Given the description of an element on the screen output the (x, y) to click on. 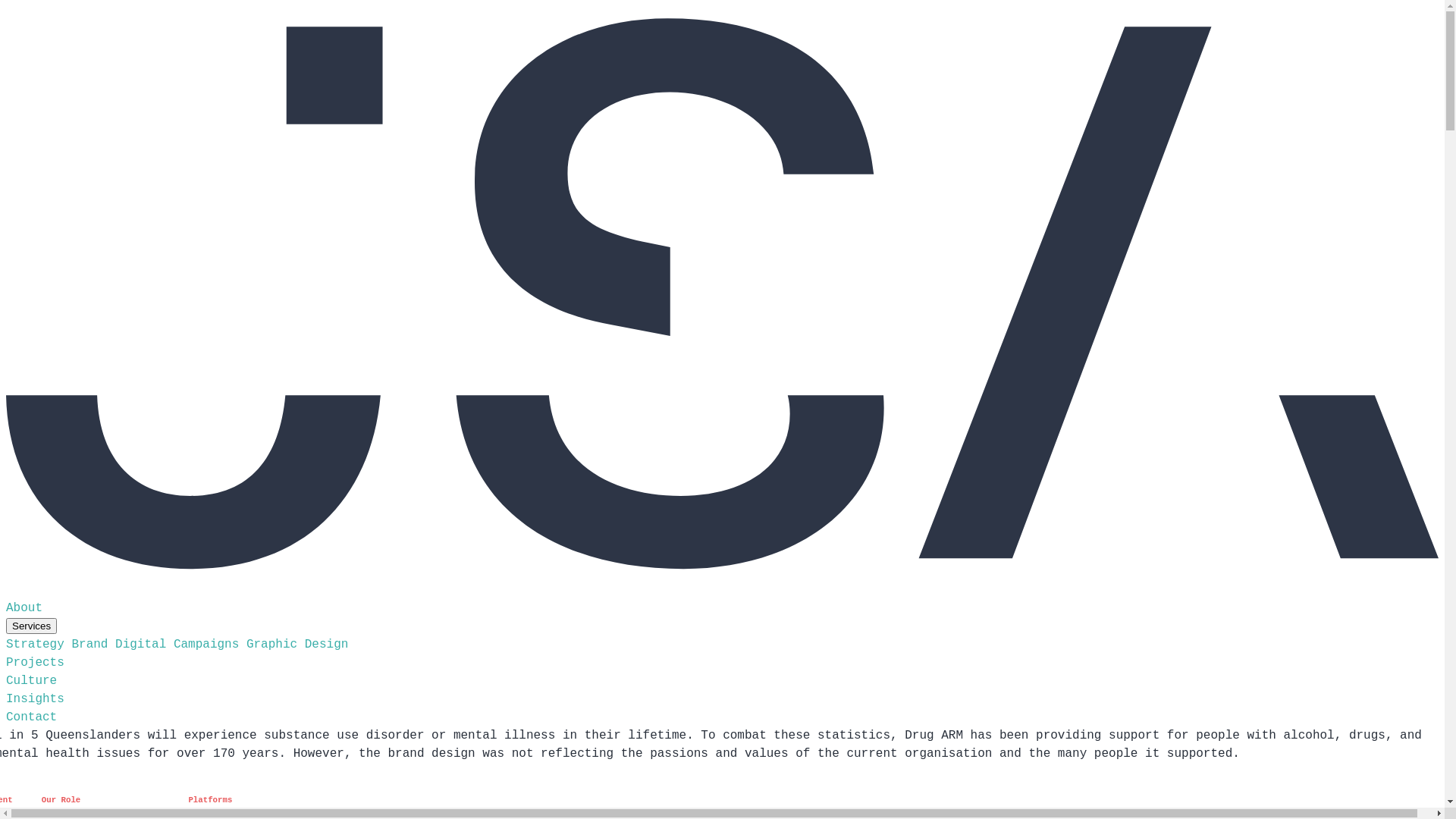
Strategy Element type: text (35, 644)
Projects Element type: text (35, 662)
Graphic Design Element type: text (297, 644)
Brand Element type: text (89, 644)
Digital Element type: text (140, 644)
About Element type: text (24, 608)
Insights Element type: text (35, 699)
Services Element type: text (31, 625)
Contact Element type: text (31, 717)
Campaigns Element type: text (205, 644)
Culture Element type: text (31, 680)
